Given the description of an element on the screen output the (x, y) to click on. 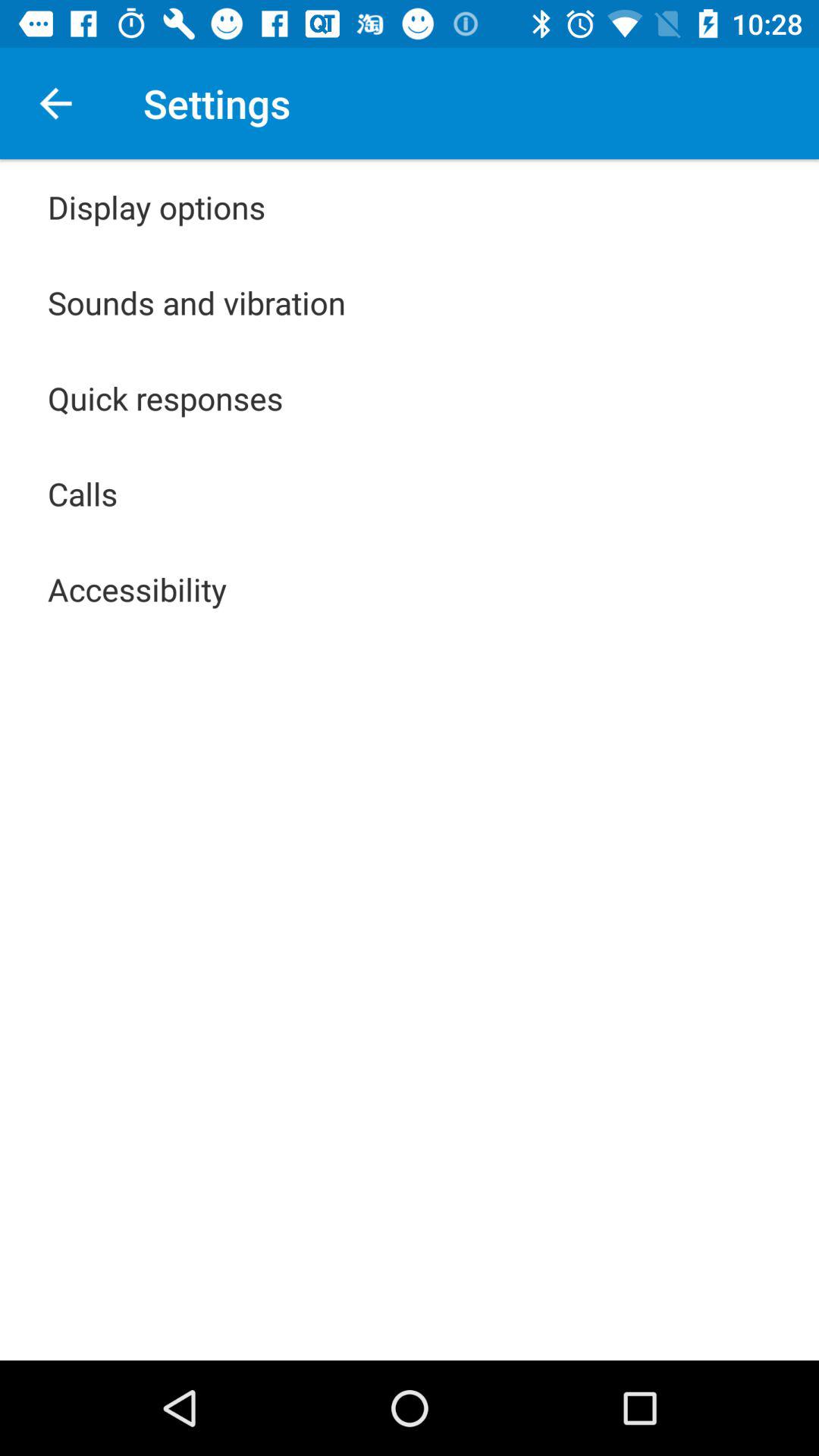
select the calls icon (82, 493)
